Given the description of an element on the screen output the (x, y) to click on. 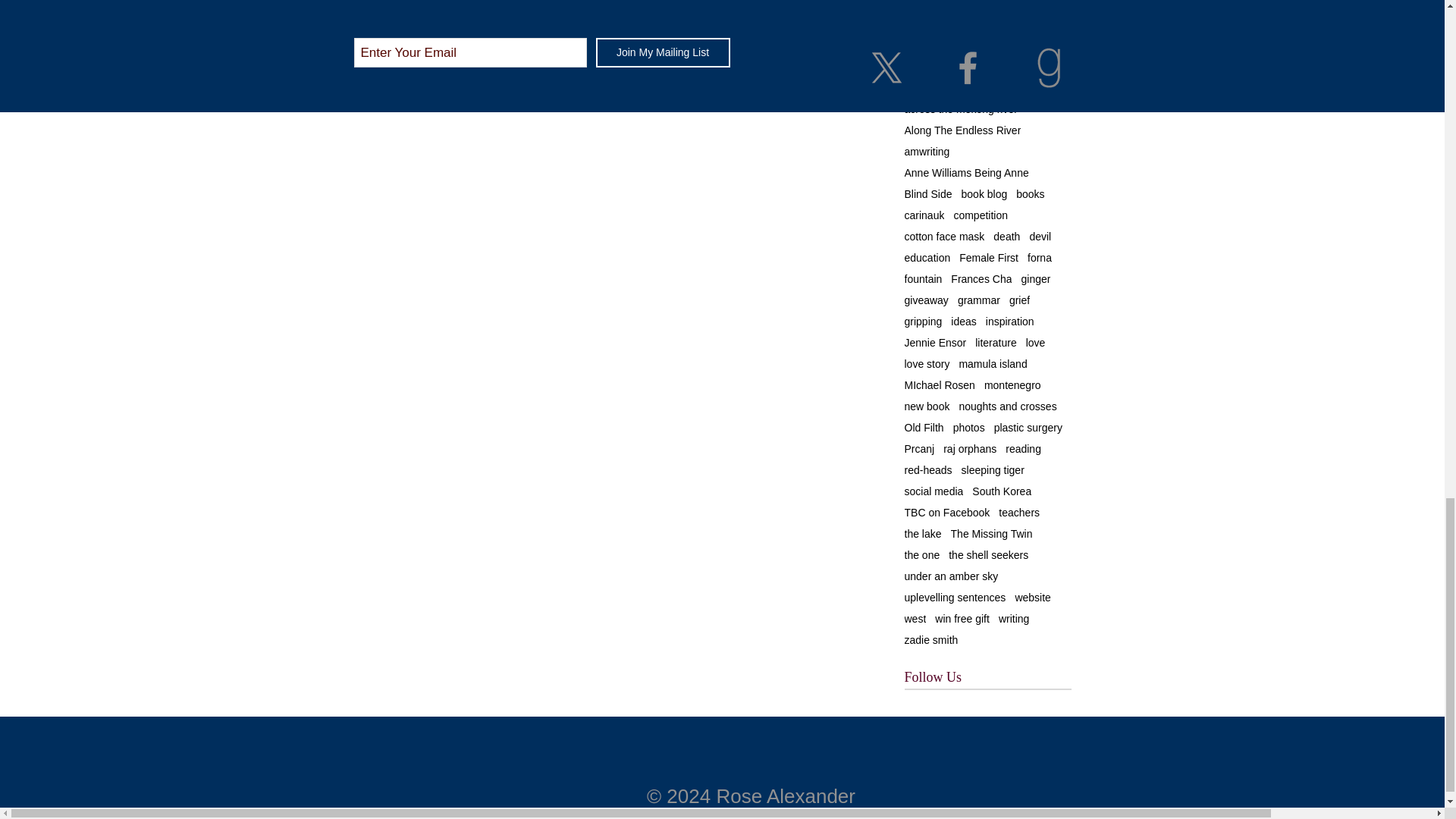
competition (980, 215)
devil (1040, 236)
across the mekong river (960, 109)
education (927, 257)
books (1029, 193)
book blog (983, 193)
fountain (923, 278)
Along The Endless River (962, 130)
Female First (988, 257)
Anne Williams Being Anne (965, 173)
